Given the description of an element on the screen output the (x, y) to click on. 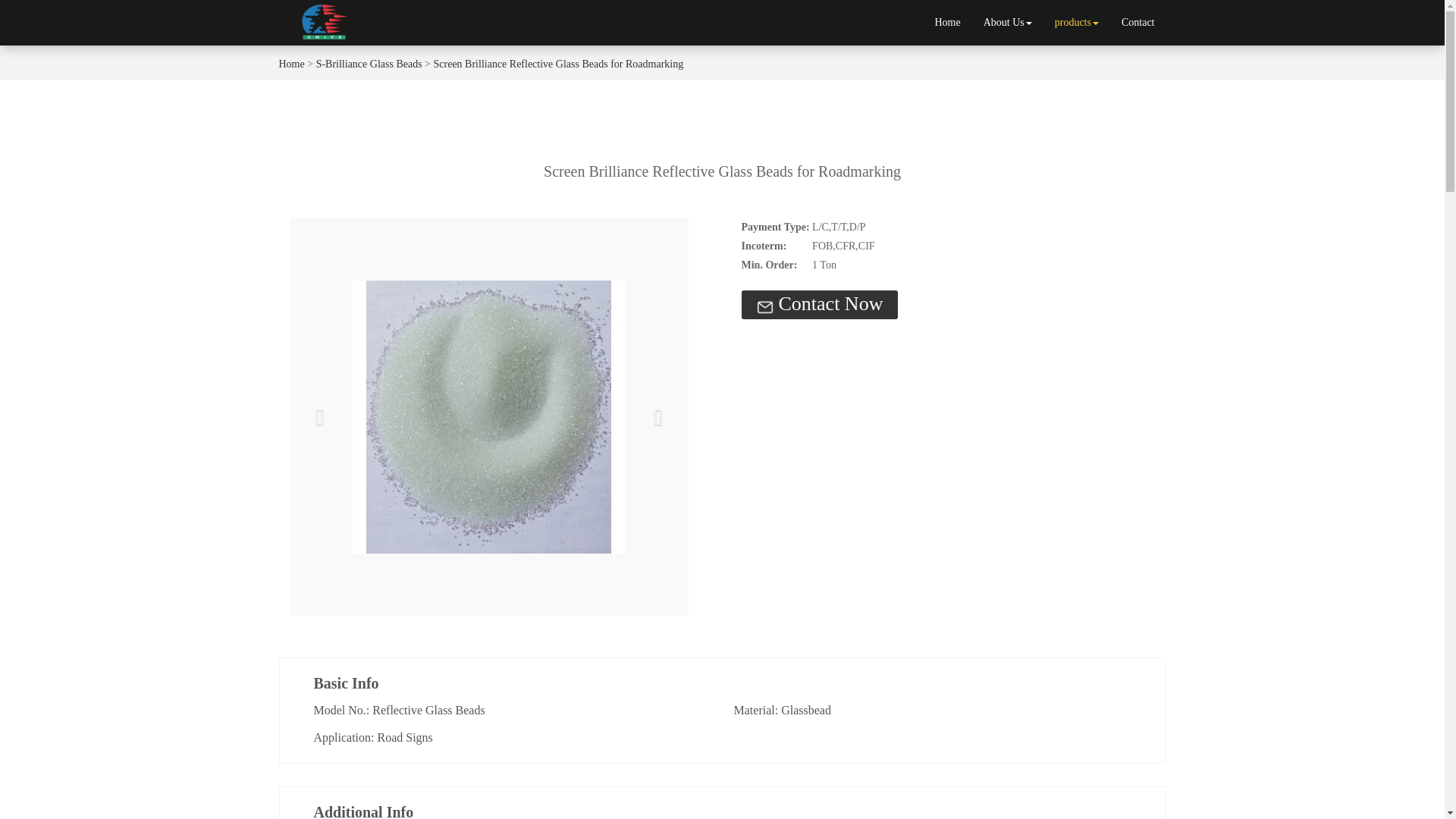
Reflective Glass Beads (428, 709)
Contact Now (819, 304)
Glassbead (805, 709)
Screen Brilliance Reflective Glass Beads for Roadmarking (558, 63)
Contact (1137, 22)
S-Brilliance Glass Beads (368, 63)
Home (947, 22)
Road Signs (404, 737)
Home (291, 63)
About Us (1007, 22)
products (1076, 22)
